Given the description of an element on the screen output the (x, y) to click on. 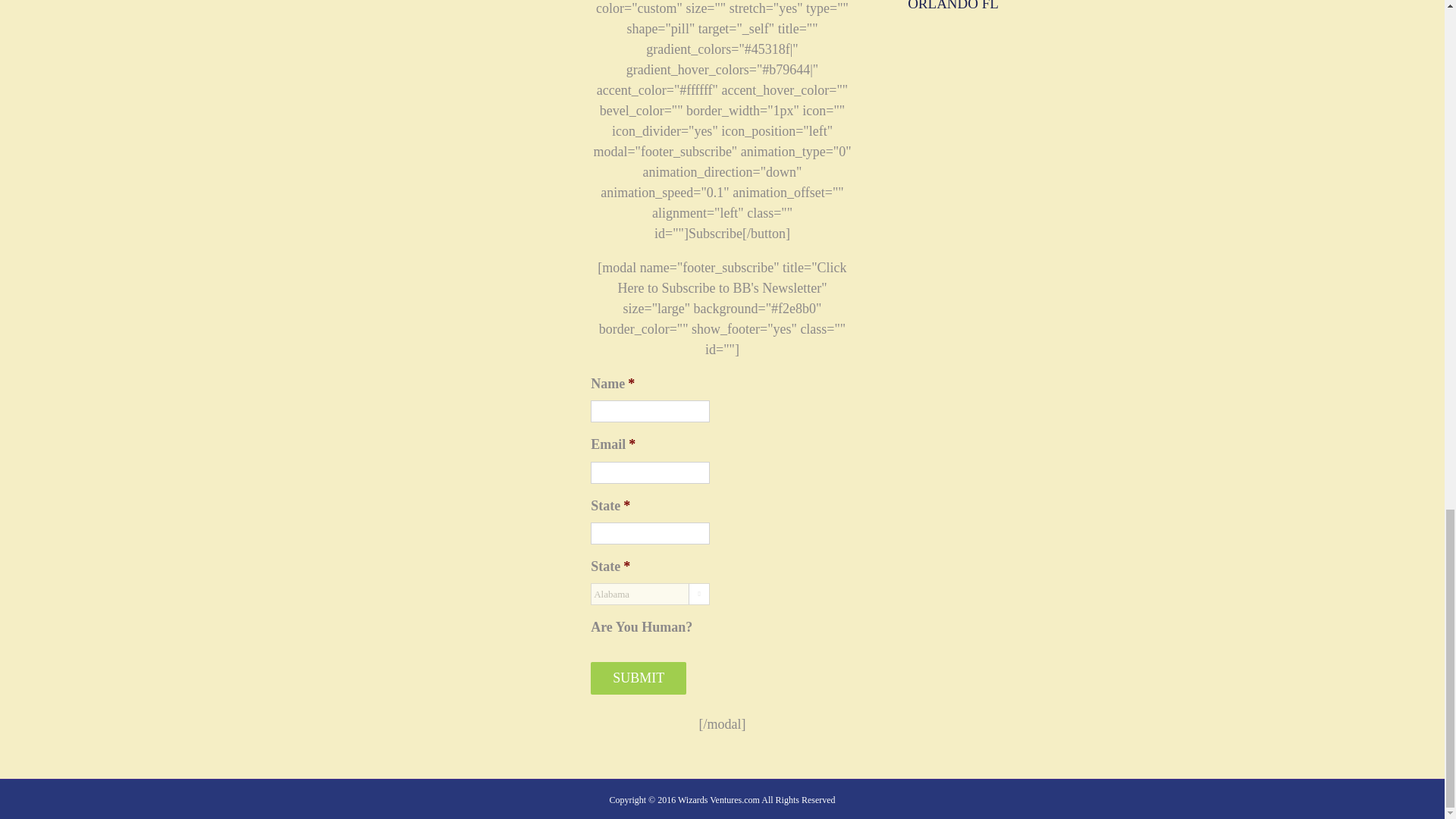
Submit (638, 677)
